Given the description of an element on the screen output the (x, y) to click on. 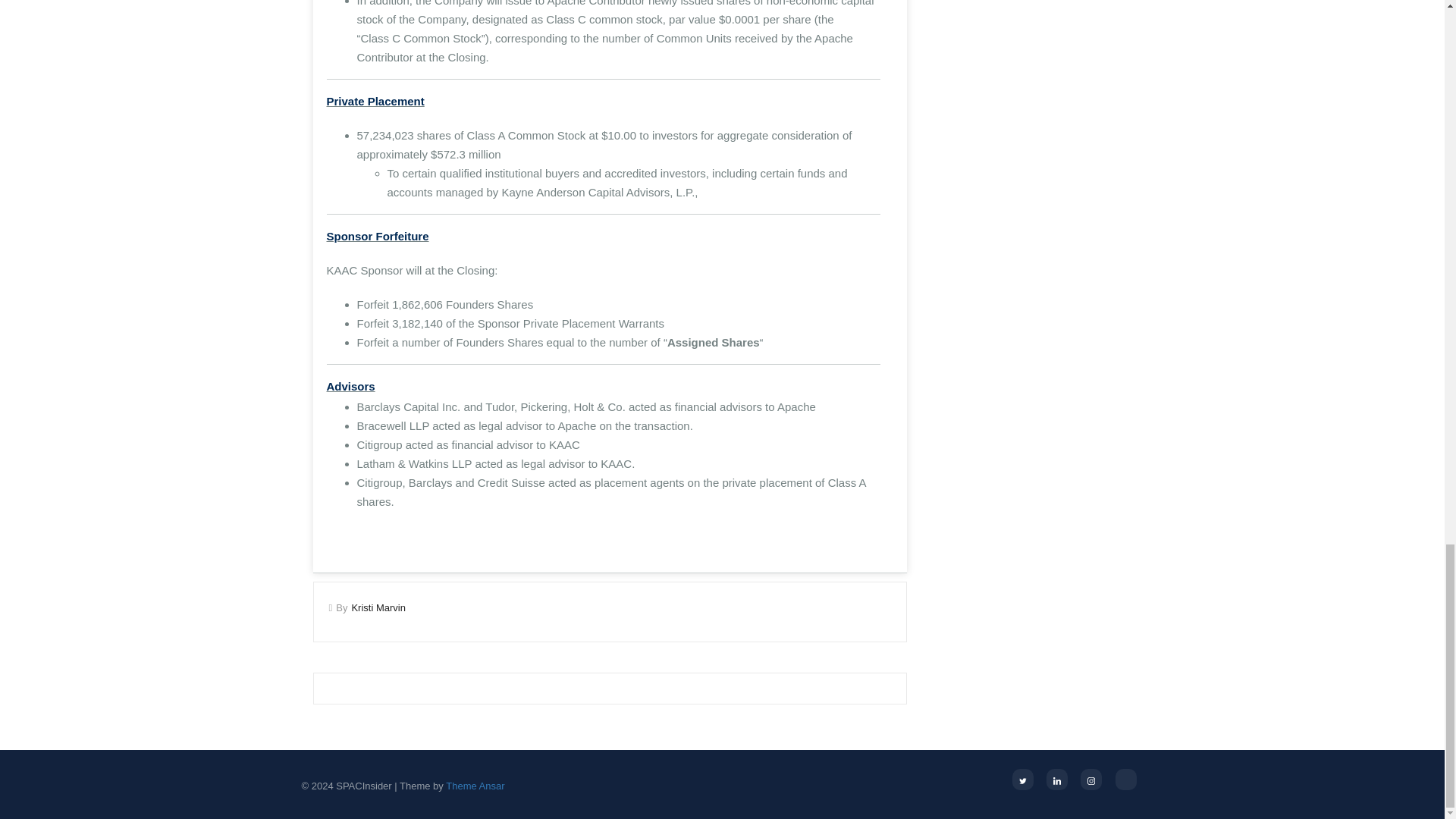
LinkedIn (1056, 779)
Instagram (1091, 779)
Twitter (1022, 779)
Apple Podcasts (1125, 779)
Kristi Marvin (378, 607)
Theme Ansar (474, 785)
